Given the description of an element on the screen output the (x, y) to click on. 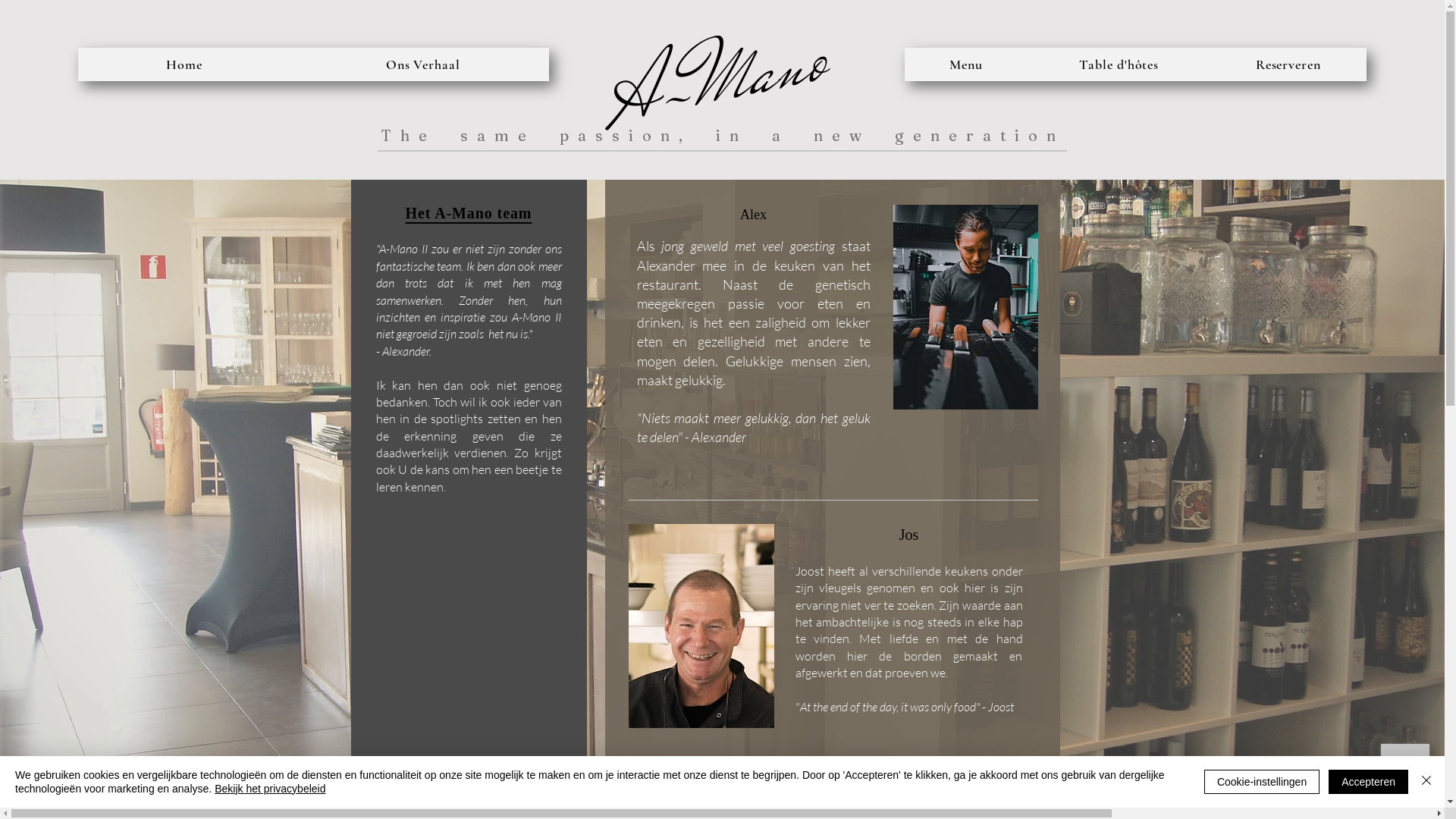
Menu Element type: text (965, 64)
Reserveren Element type: text (1288, 64)
Accepteren Element type: text (1368, 781)
Wix Chat Element type: hover (1408, 771)
Bekijk het privacybeleid Element type: text (269, 788)
Home Element type: text (183, 64)
Cookie-instellingen Element type: text (1261, 781)
